Given the description of an element on the screen output the (x, y) to click on. 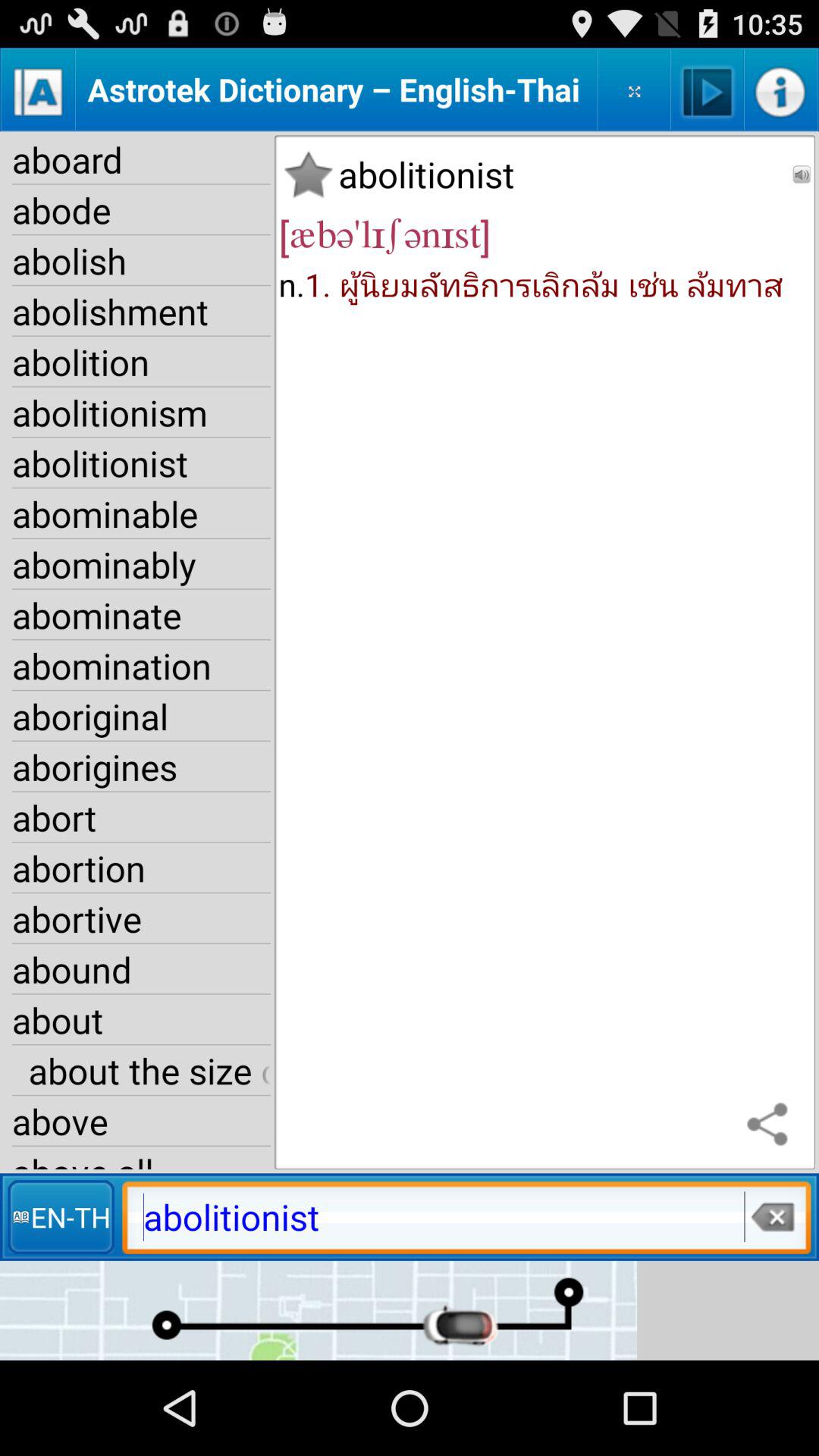
press item next to aboard item (308, 174)
